Given the description of an element on the screen output the (x, y) to click on. 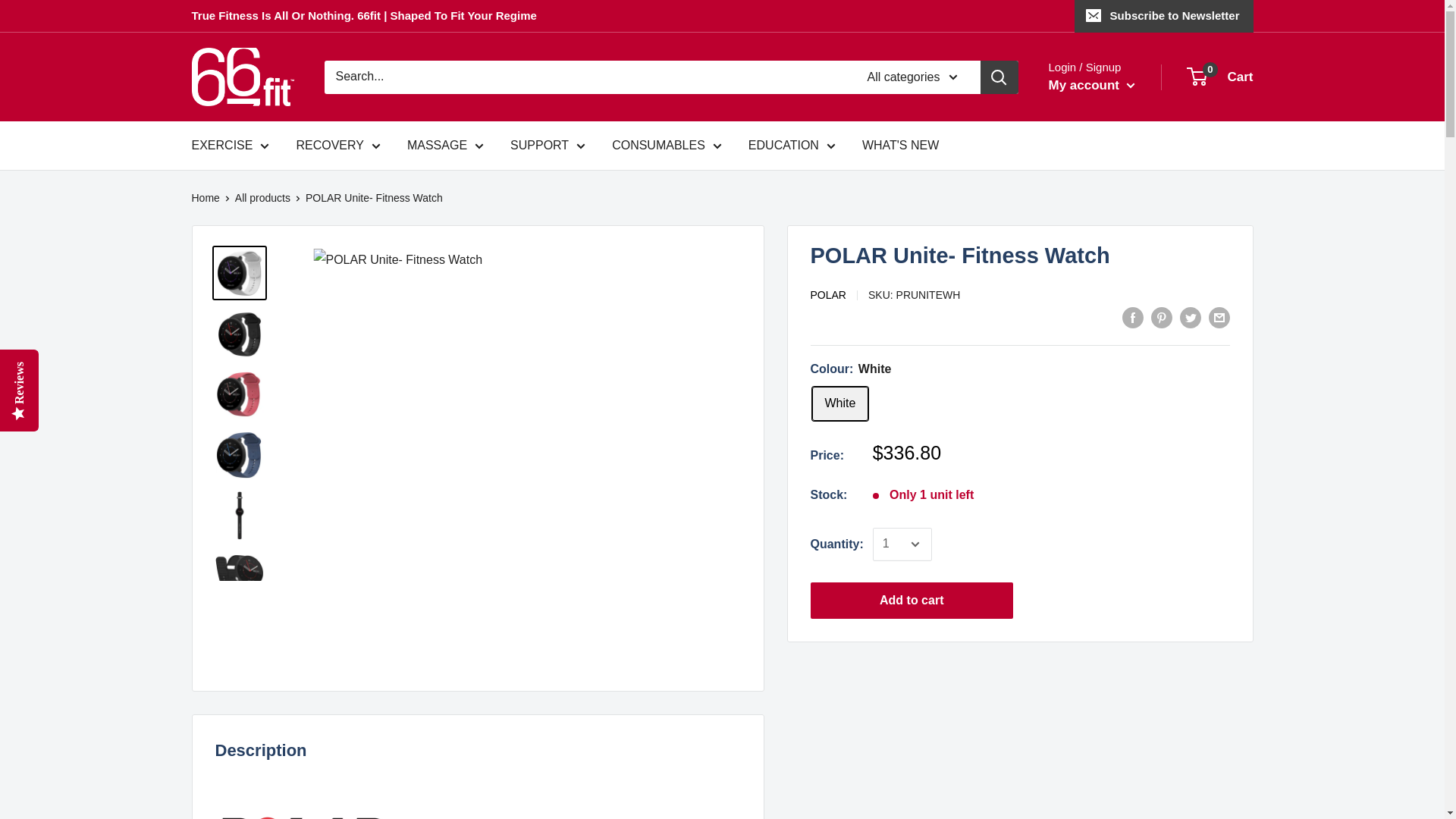
Subscribe to Newsletter (1163, 15)
White (838, 403)
